Given the description of an element on the screen output the (x, y) to click on. 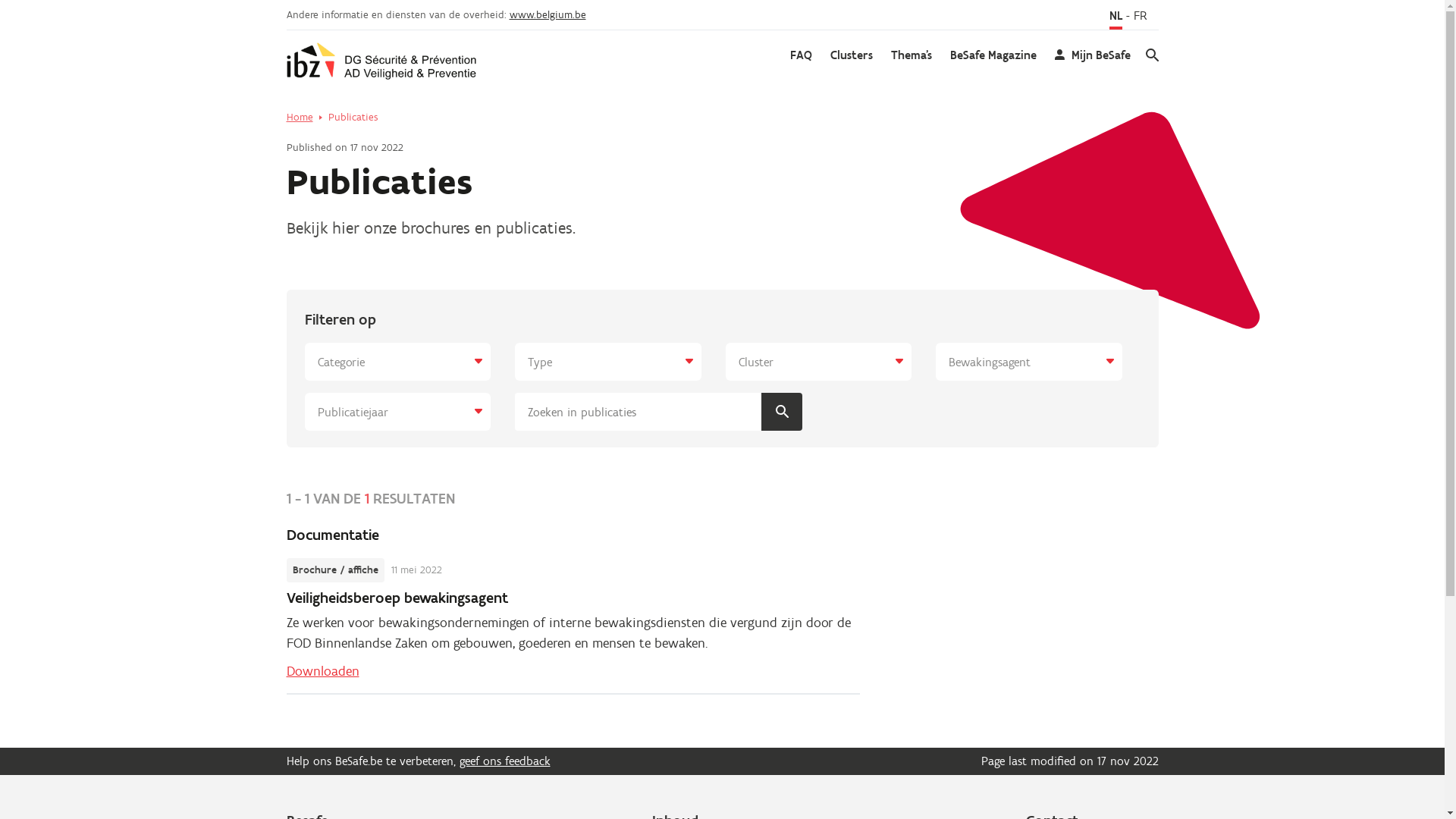
NL Element type: text (1114, 17)
Mijn BeSafe Element type: text (1091, 55)
FAQ Element type: text (801, 55)
geef ons feedback Element type: text (504, 760)
Clusters Element type: text (850, 55)
Downloaden Element type: text (322, 670)
Home Element type: text (299, 117)
BeSafe Magazine Element type: text (992, 55)
www.belgium.be Element type: text (547, 14)
Overslaan en naar de inhoud gaan Element type: text (0, 0)
Toepassen Element type: text (781, 411)
Thema's Element type: text (910, 55)
FR Element type: text (1139, 16)
